Given the description of an element on the screen output the (x, y) to click on. 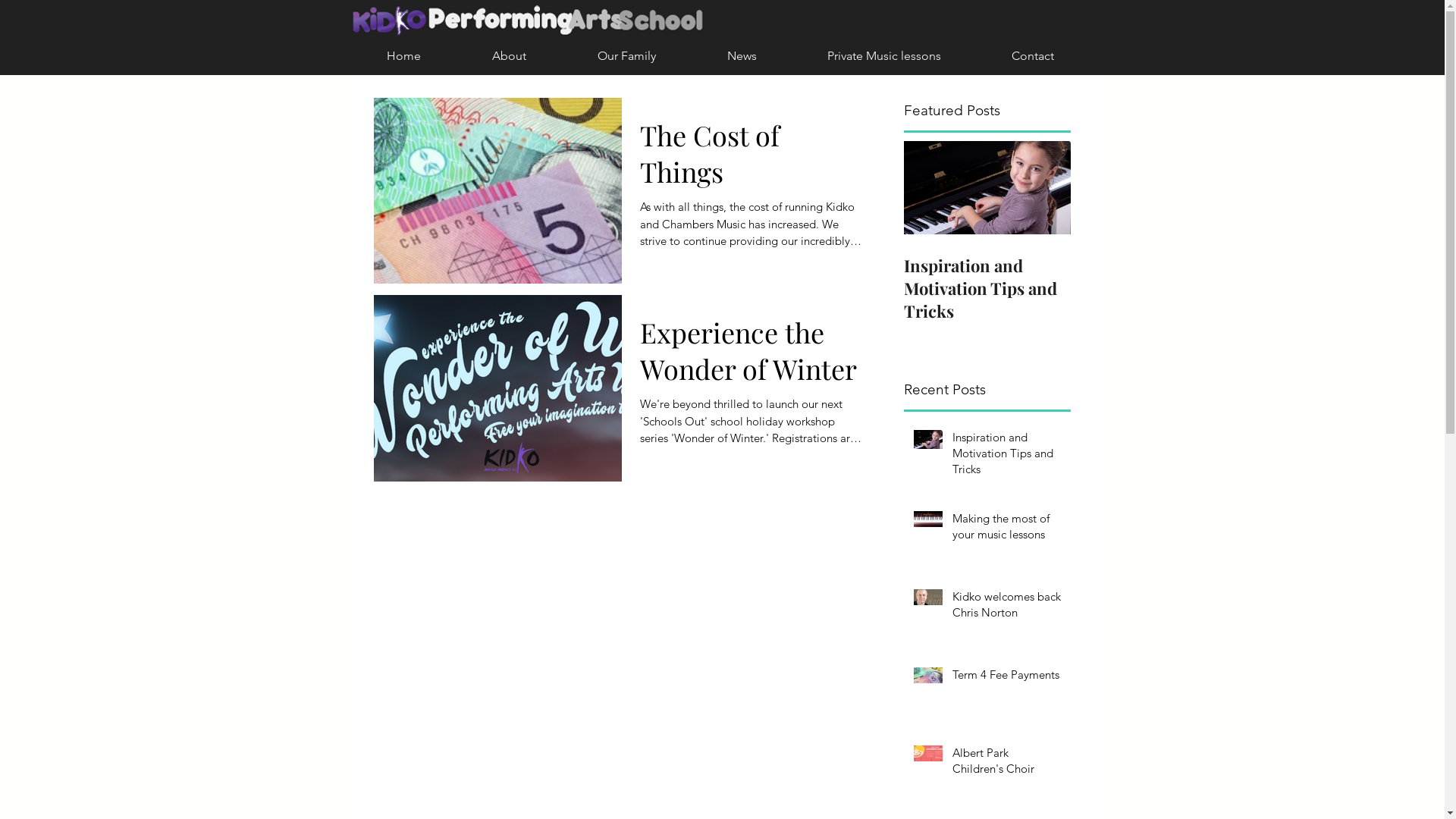
Home Element type: text (402, 56)
Inspiration and Motivation Tips and Tricks Element type: text (986, 288)
Albert Park Children's Choir Element type: text (1006, 763)
Contact Element type: text (1032, 56)
Experience the Wonder of Winter Element type: text (751, 354)
News Element type: text (741, 56)
The Cost of Things Element type: text (751, 157)
Making the most of your music lessons Element type: text (1006, 529)
Inspiration and Motivation Tips and Tricks Element type: text (1006, 456)
Private Music lessons Element type: text (883, 56)
About Element type: text (508, 56)
Kidko welcomes back Chris Norton Element type: text (1006, 607)
Our Family Element type: text (625, 56)
Term 4 Fee Payments Element type: text (1006, 677)
